Given the description of an element on the screen output the (x, y) to click on. 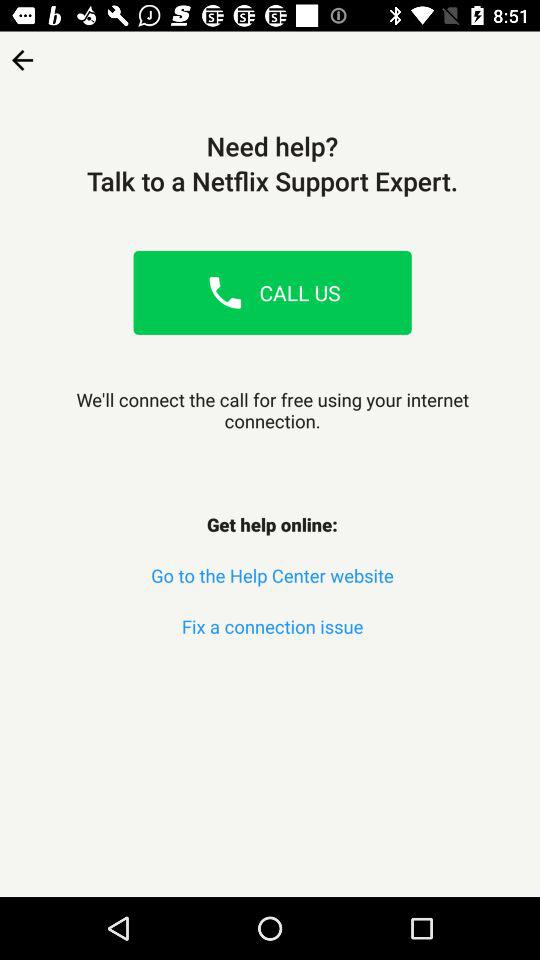
tap the fix a connection item (272, 626)
